Given the description of an element on the screen output the (x, y) to click on. 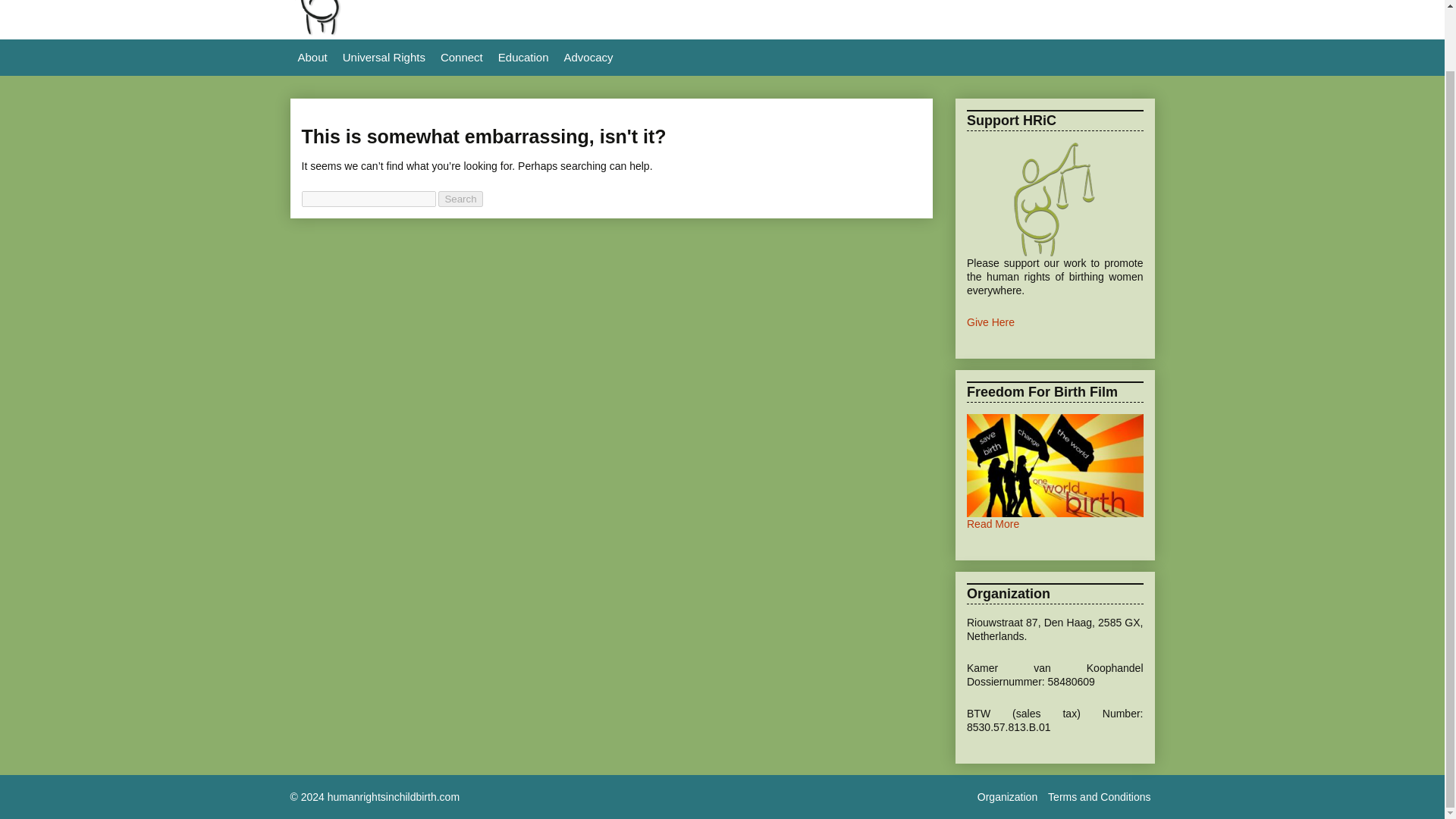
Connect (461, 57)
Advocacy (588, 57)
Read More (992, 523)
Organization (1007, 796)
Universal Rights (383, 57)
About (311, 57)
Education (523, 57)
Search (459, 198)
Search (459, 198)
Give Here (990, 322)
